Given the description of an element on the screen output the (x, y) to click on. 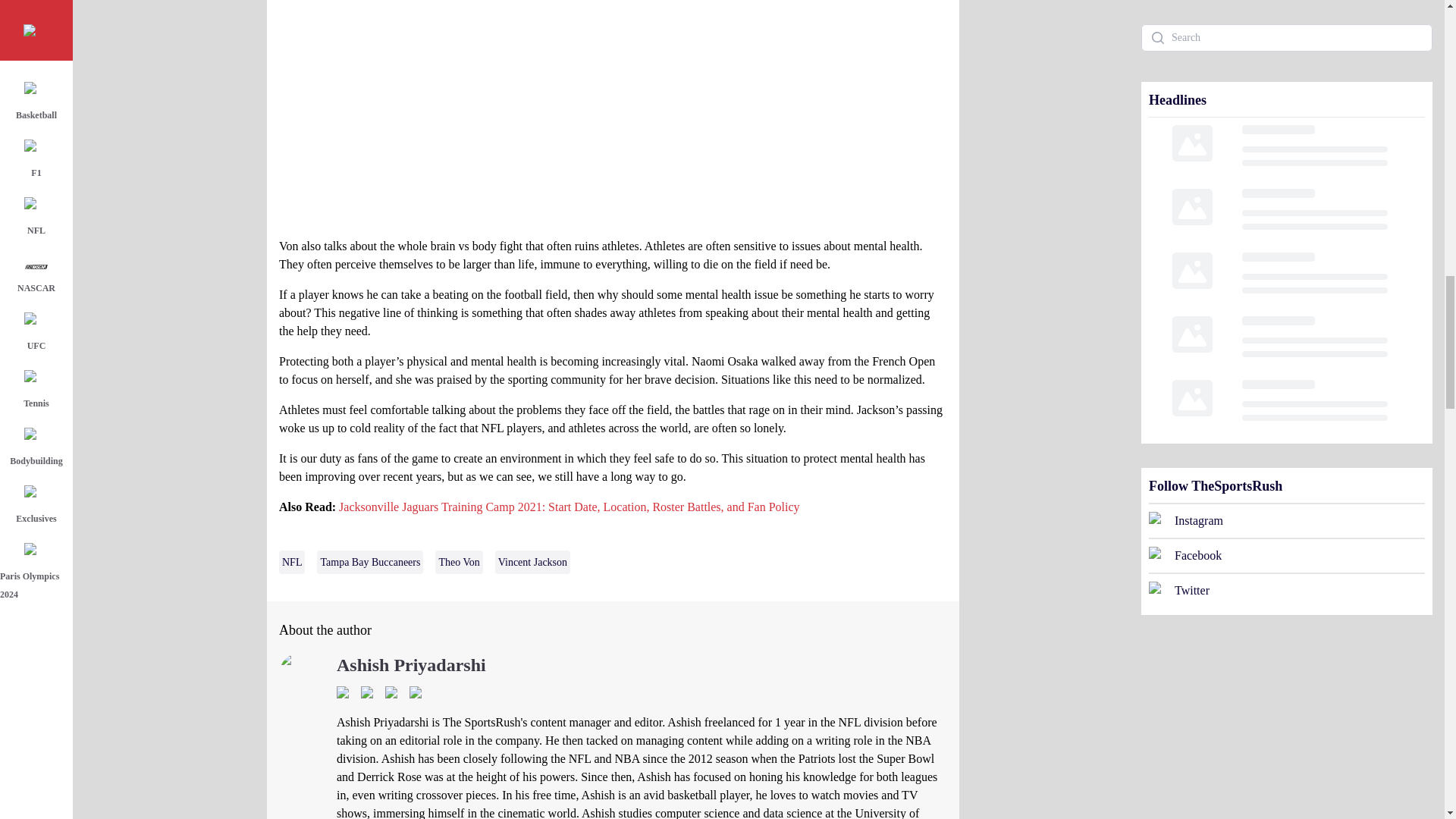
Vincent Jackson (532, 562)
NFL (291, 562)
NFL (291, 562)
Tampa Bay Buccaneers (370, 562)
Theo Von (458, 562)
Tampa Bay Buccaneers (370, 562)
